Given the description of an element on the screen output the (x, y) to click on. 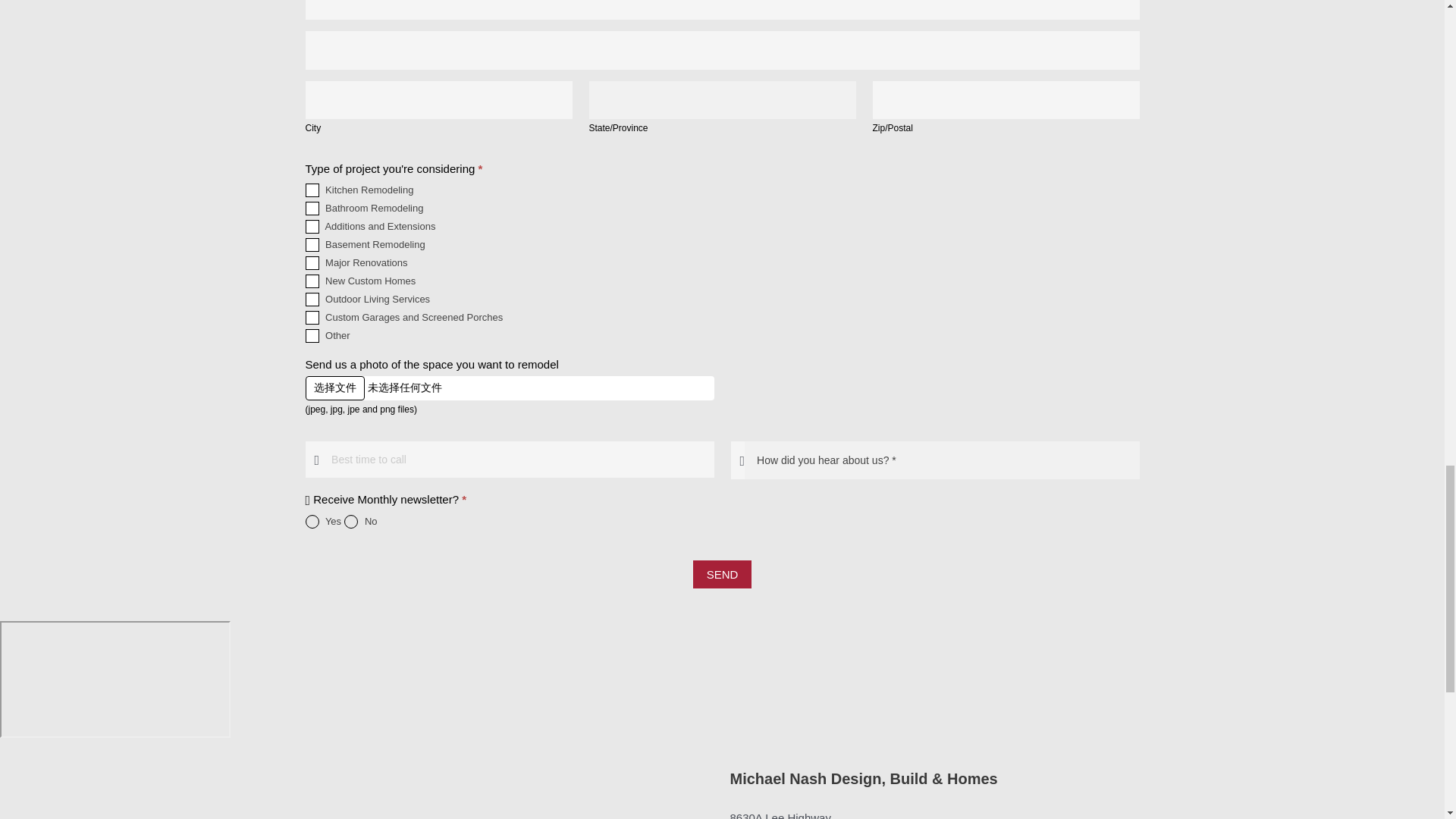
Additions and Extensions (311, 226)
New Custom Homes (311, 281)
Kitchen Remodeling (311, 190)
Yes (311, 521)
Major Renovations (311, 263)
Basement Remodeling (311, 244)
Custom Garages and Screened Porches (311, 317)
Bathroom Remodeling (311, 208)
Outdoor Living Services (311, 299)
Other (311, 336)
